Given the description of an element on the screen output the (x, y) to click on. 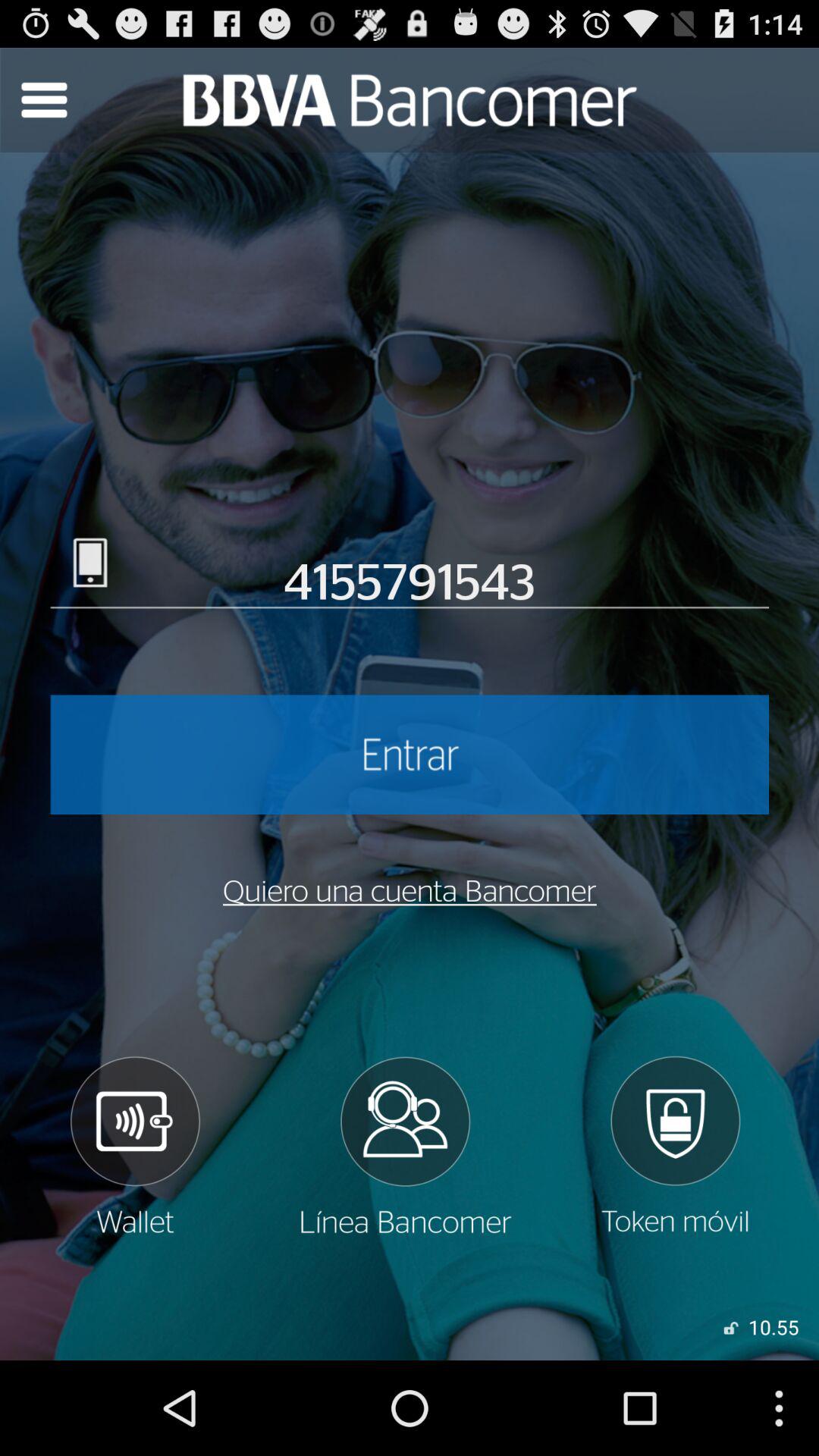
drop down bar (43, 99)
